Given the description of an element on the screen output the (x, y) to click on. 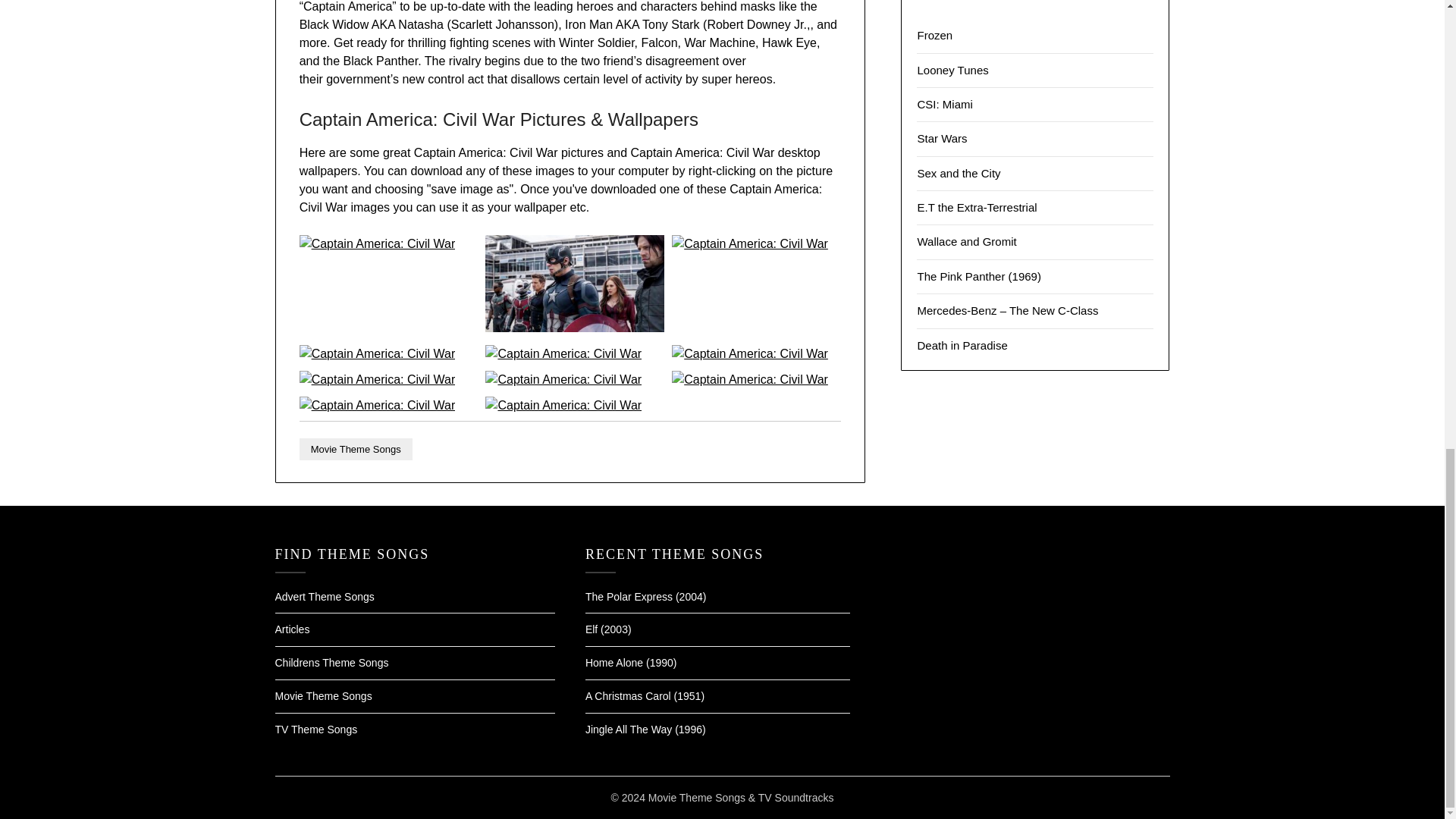
Captain America: Civil War (563, 379)
Captain America: Civil War (563, 353)
Captain America: Civil War (749, 243)
Captain America: Civil War (377, 353)
Captain America: Civil War (563, 404)
Captain America: Civil War (377, 379)
Captain America: Civil War (377, 404)
Frozen (934, 34)
Looney Tunes (952, 69)
Captain America: Civil War (749, 379)
Captain America: Civil War (377, 243)
Movie Theme Songs (355, 449)
Captain America: Civil War (573, 327)
CSI: Miami (944, 103)
Wallace and Gromit (966, 241)
